Given the description of an element on the screen output the (x, y) to click on. 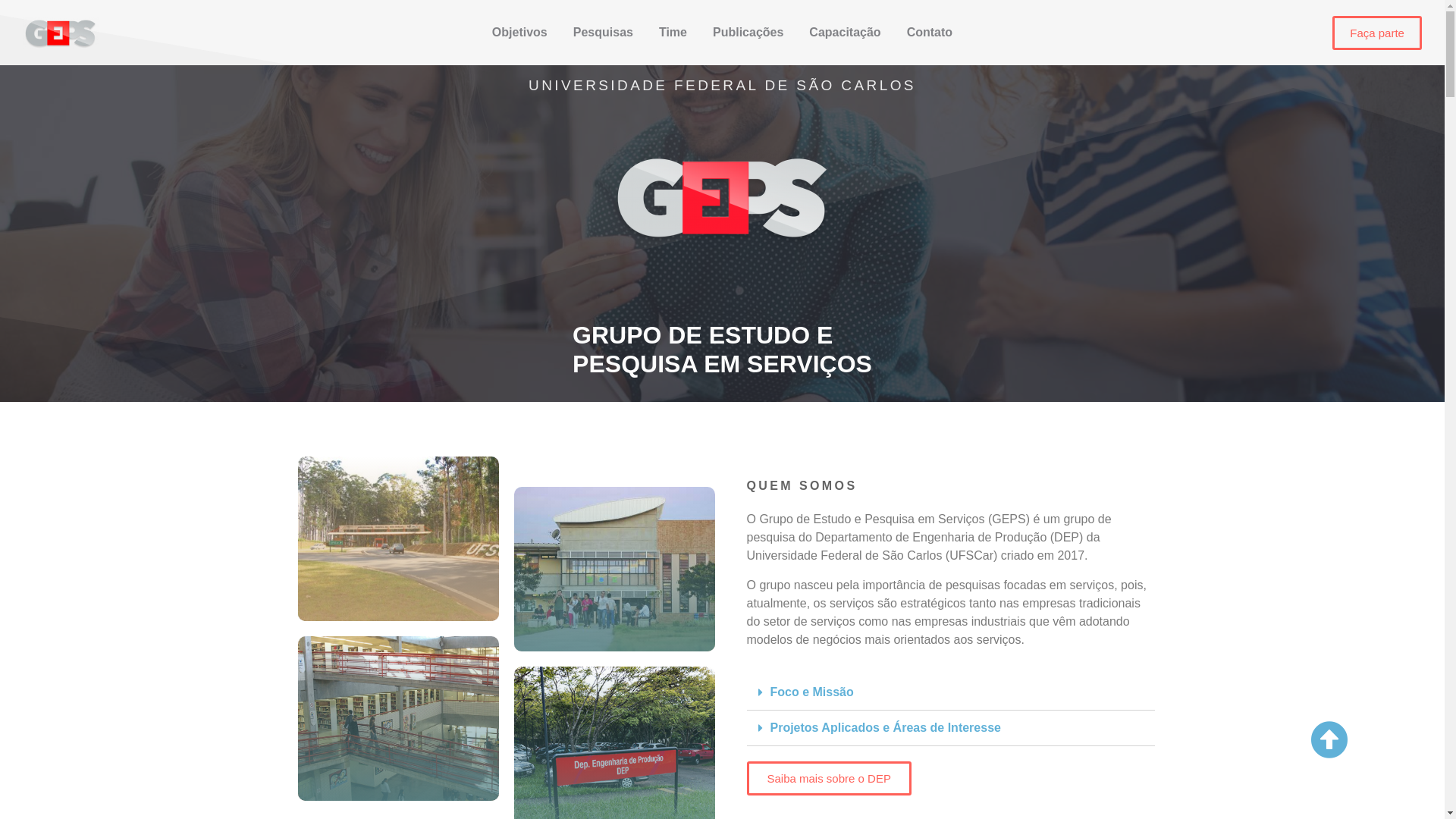
Pesquisas Element type: text (603, 32)
Contato Element type: text (929, 32)
Time Element type: text (672, 32)
Objetivos Element type: text (519, 32)
Saiba mais sobre o DEP Element type: text (828, 778)
